Given the description of an element on the screen output the (x, y) to click on. 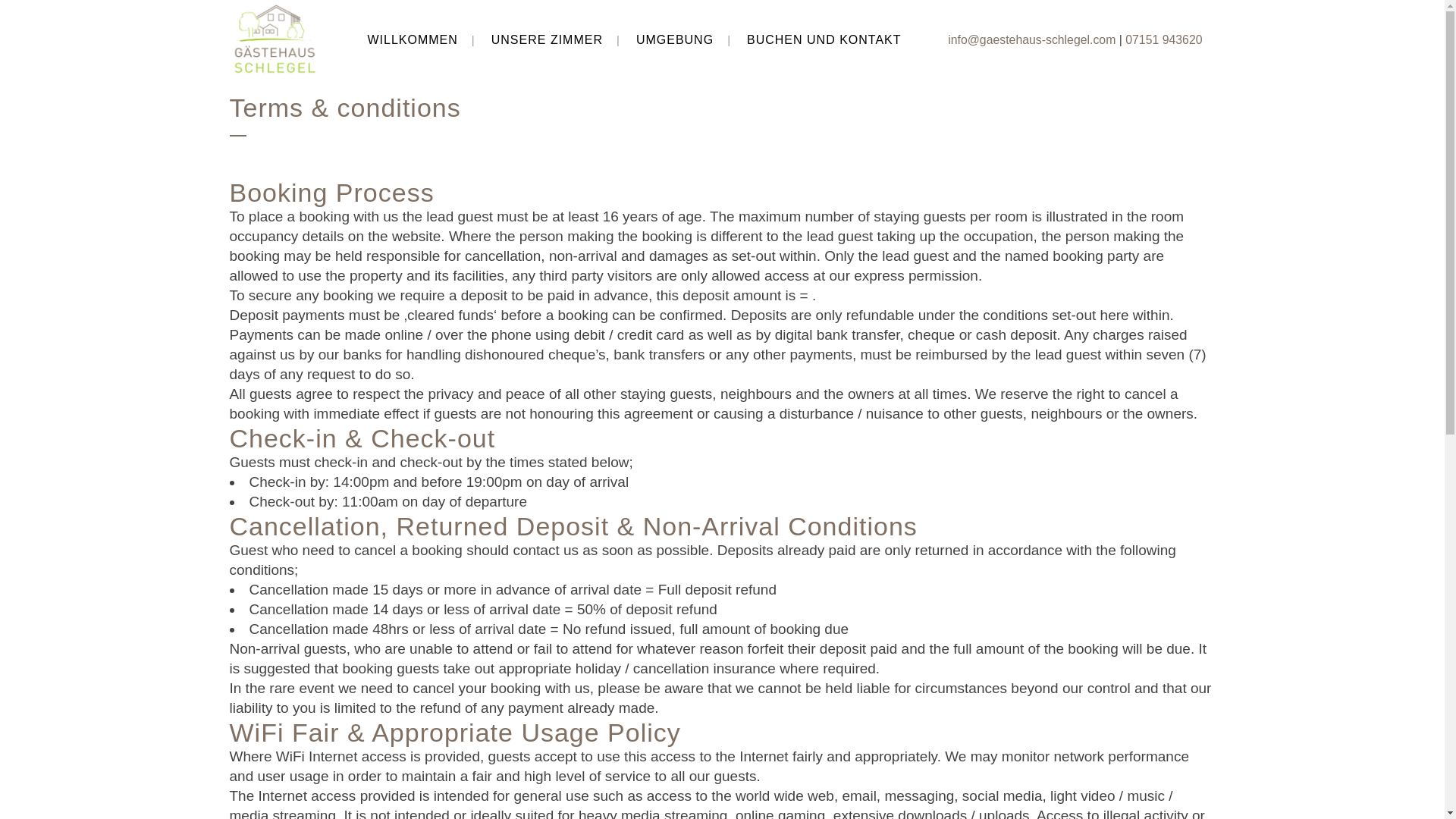
07151 943620 (1163, 39)
BUCHEN UND KONTAKT (824, 39)
UNSERE ZIMMER (546, 39)
WILLKOMMEN (411, 39)
UMGEBUNG (675, 39)
